Given the description of an element on the screen output the (x, y) to click on. 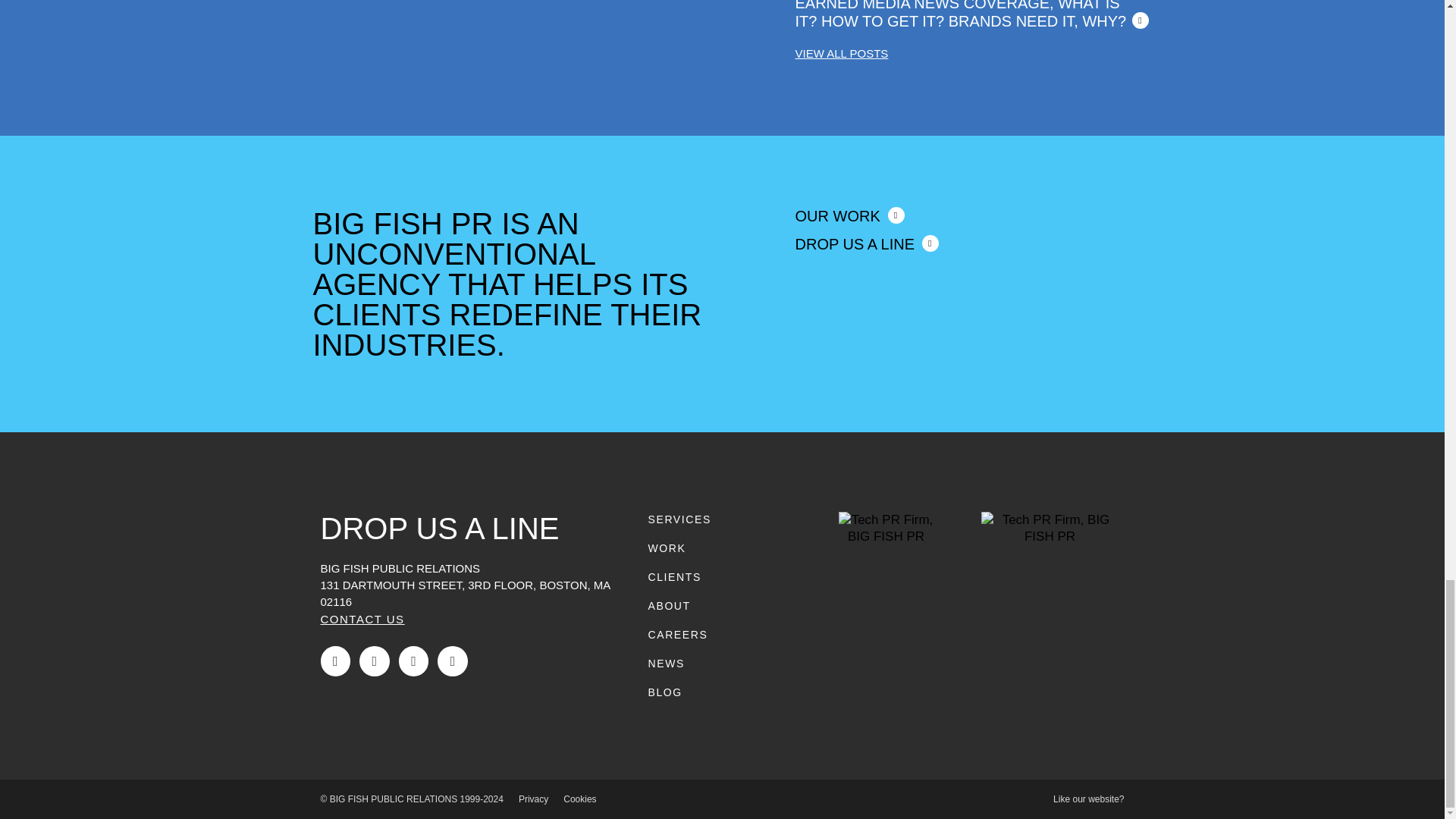
CONTACT US (362, 618)
DROP US A LINE (865, 243)
VIEW ALL POSTS (841, 52)
OUR WORK (849, 215)
